Given the description of an element on the screen output the (x, y) to click on. 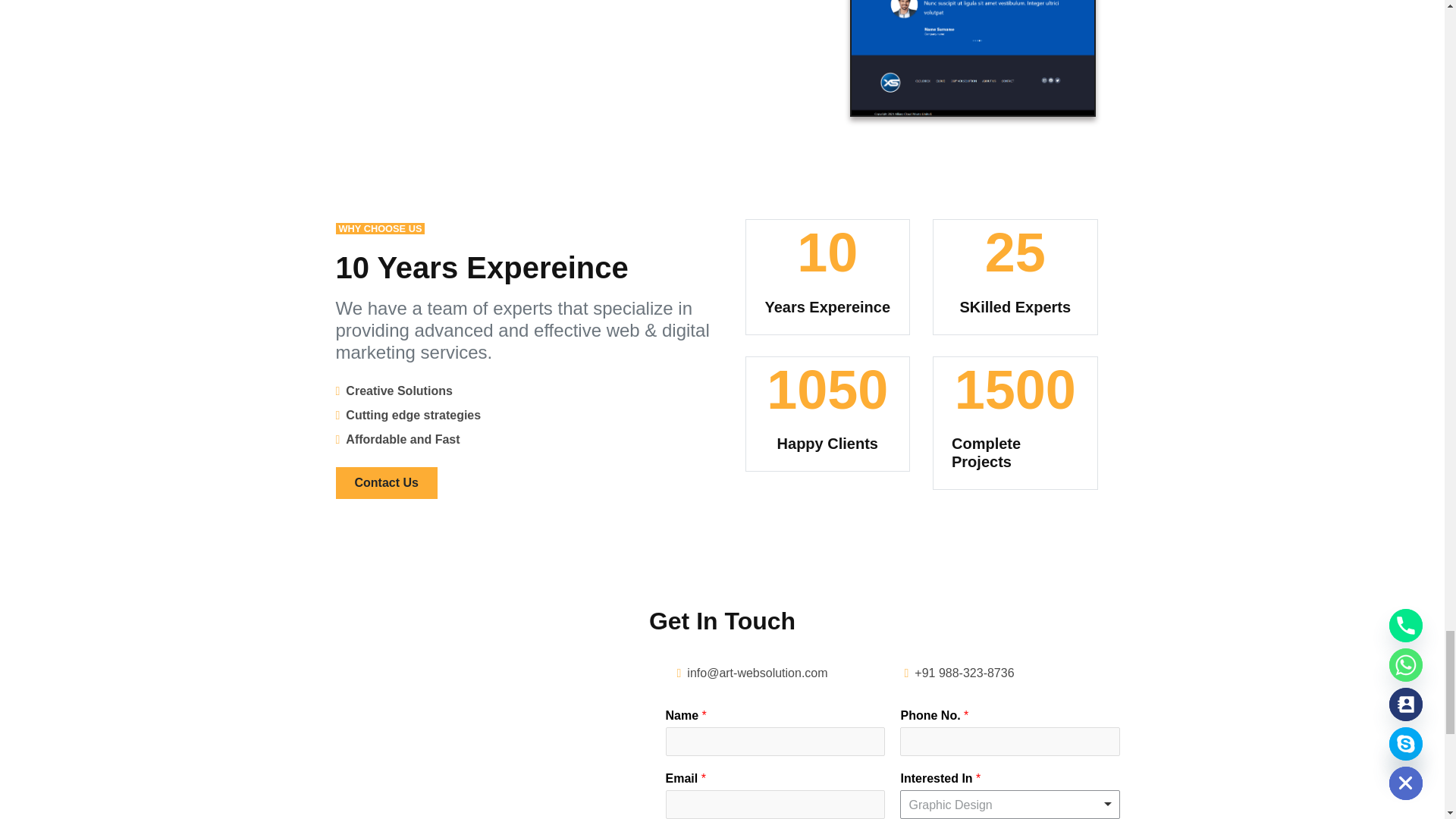
Contact Us (385, 482)
